Given the description of an element on the screen output the (x, y) to click on. 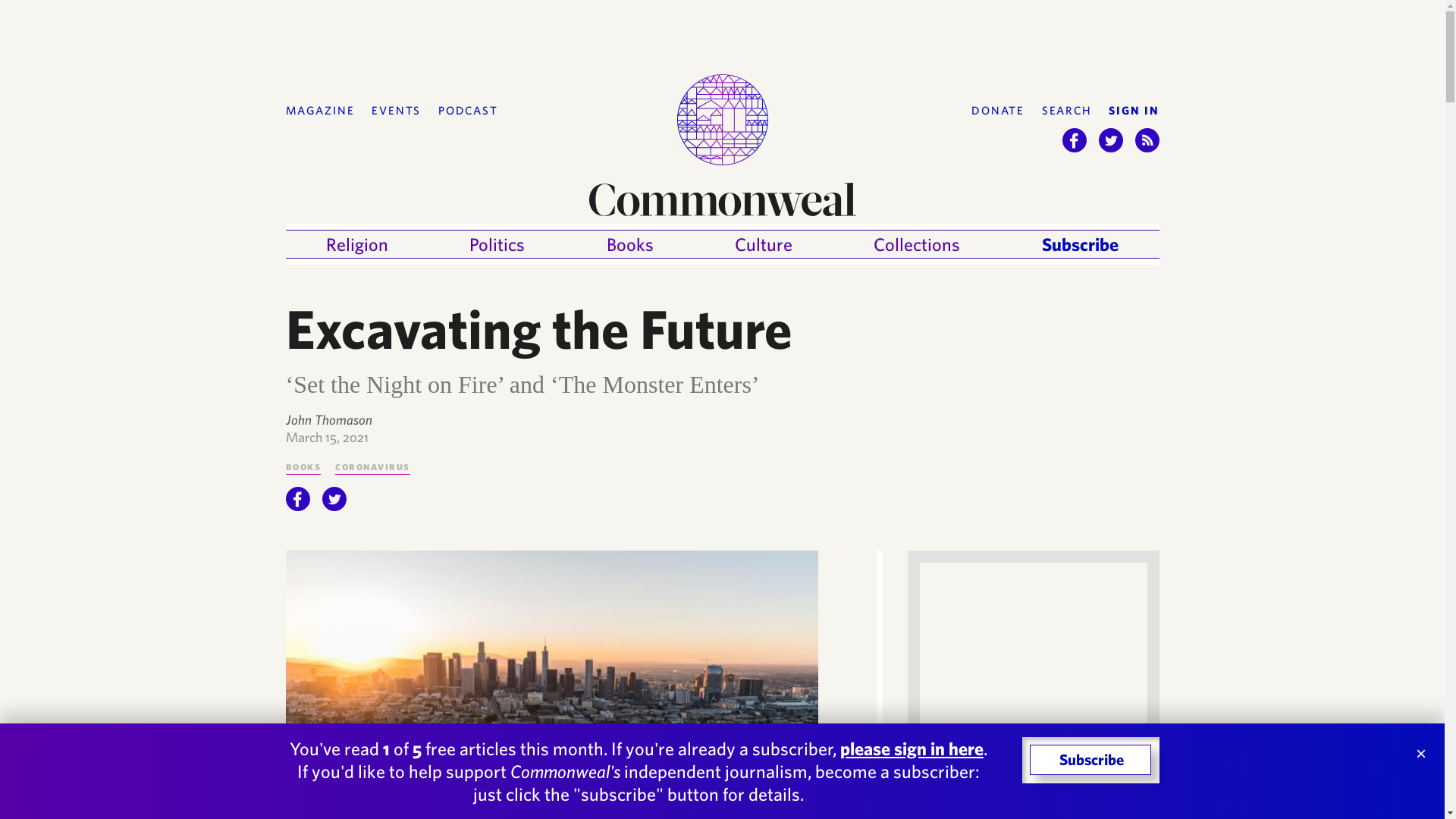
John Thomason (328, 419)
Monday, March 15, 2021 - 09:26 (326, 437)
Subscribe (1080, 243)
Politics (496, 243)
DONATE (998, 111)
SIGN IN (1133, 111)
Collections (916, 243)
Culture (763, 243)
Coronavirus (372, 465)
Books (302, 465)
MAGAZINE (319, 111)
Books (630, 243)
Religion (357, 243)
EVENTS (395, 111)
